Given the description of an element on the screen output the (x, y) to click on. 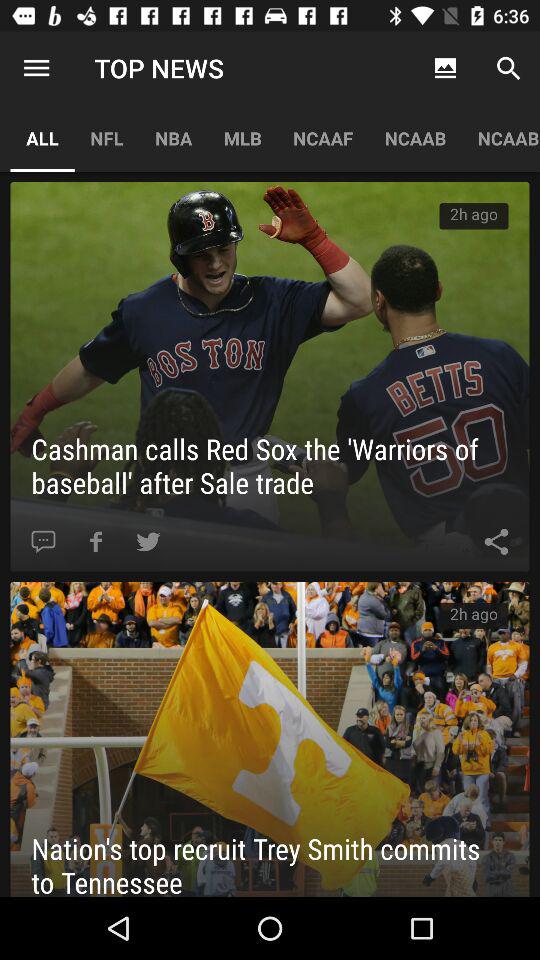
turn on the item below cashman calls red item (95, 541)
